Given the description of an element on the screen output the (x, y) to click on. 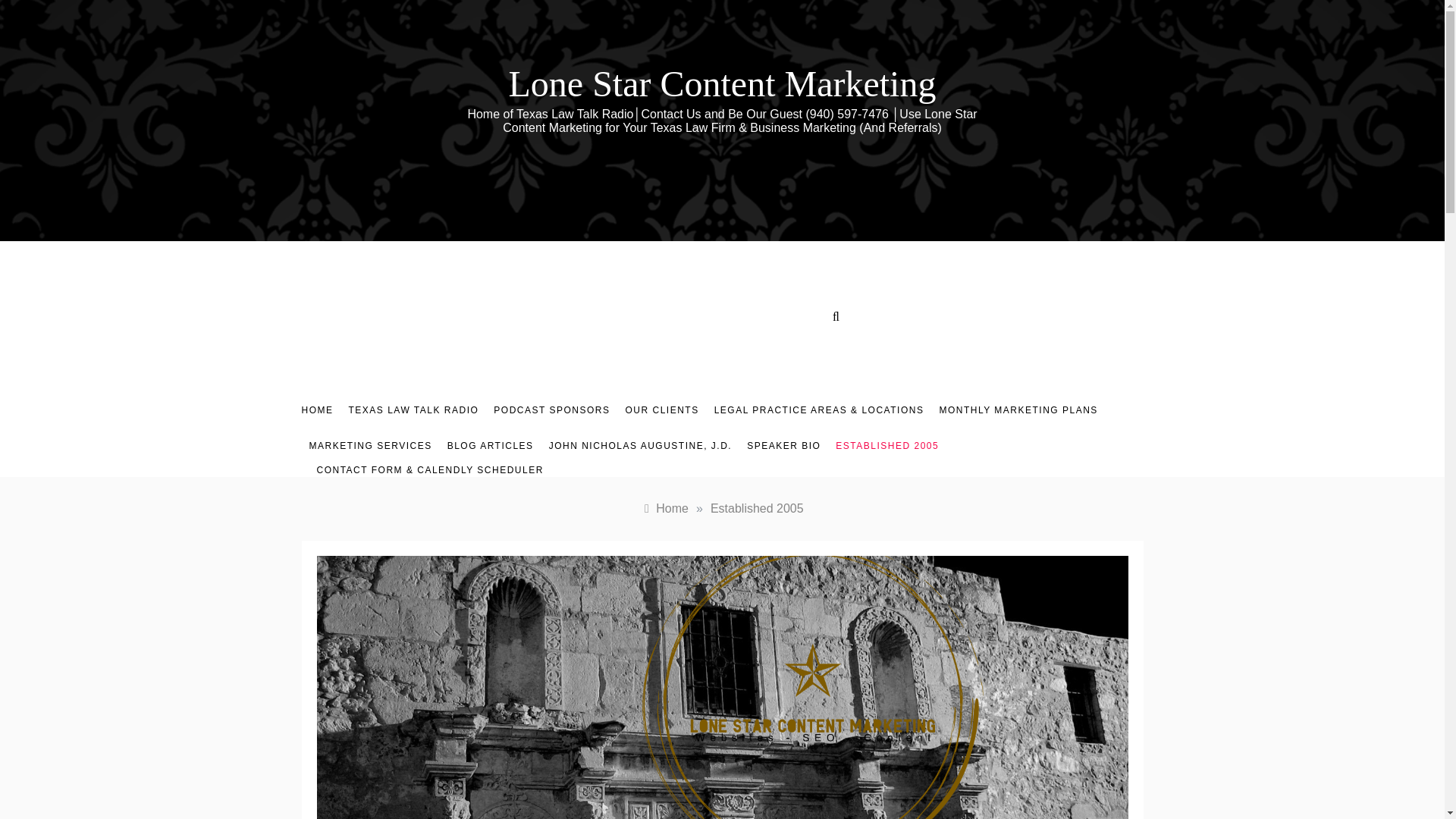
MARKETING SERVICES (370, 446)
ESTABLISHED 2005 (887, 446)
Lone Star Content Marketing (722, 83)
BLOG ARTICLES (490, 446)
PODCAST SPONSORS (551, 410)
SPEAKER BIO (783, 446)
OUR CLIENTS (661, 410)
TEXAS LAW TALK RADIO (413, 410)
MONTHLY MARKETING PLANS (1018, 410)
JOHN NICHOLAS AUGUSTINE, J.D. (640, 446)
HOME (320, 410)
